Given the description of an element on the screen output the (x, y) to click on. 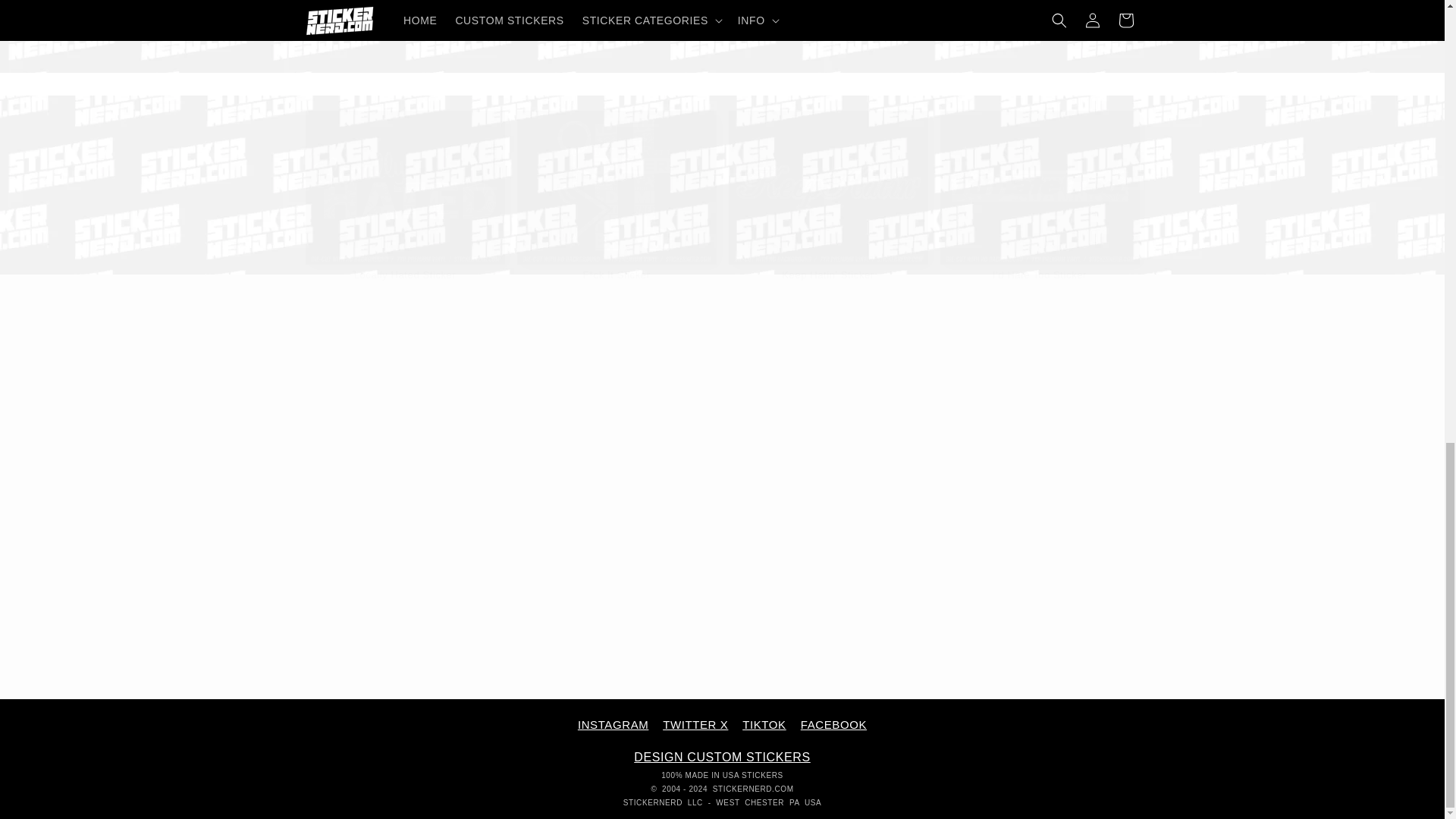
STICKERNERD INSTAGRAM (612, 724)
STICKERNERD FACEBOOK (833, 724)
MAKE CUSTOM STICKERS (721, 757)
STICKERNERD TIKTOK (764, 724)
STICKERNERD TWITTER X (721, 49)
